Given the description of an element on the screen output the (x, y) to click on. 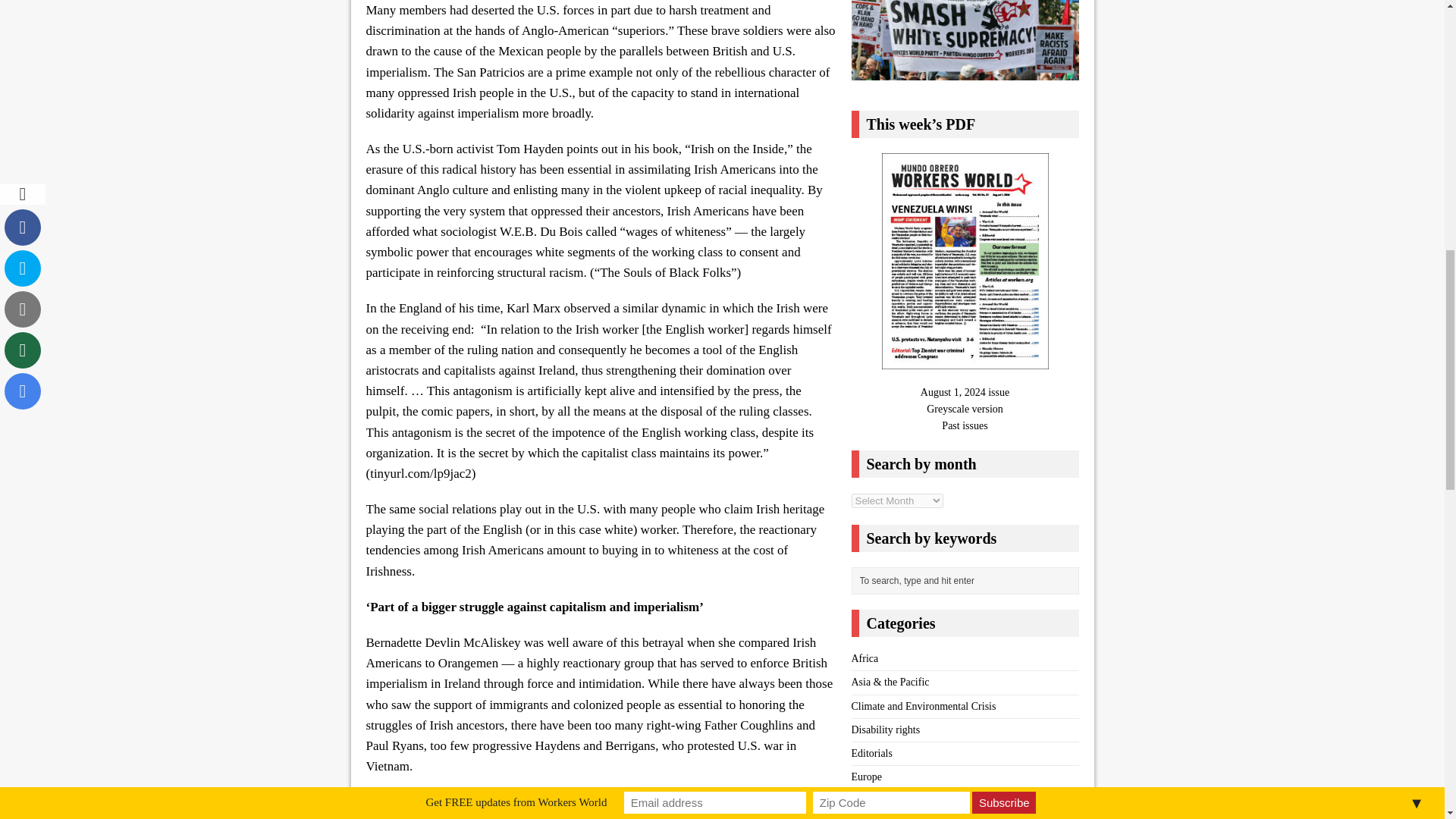
To search, type and hit enter (968, 580)
